Given the description of an element on the screen output the (x, y) to click on. 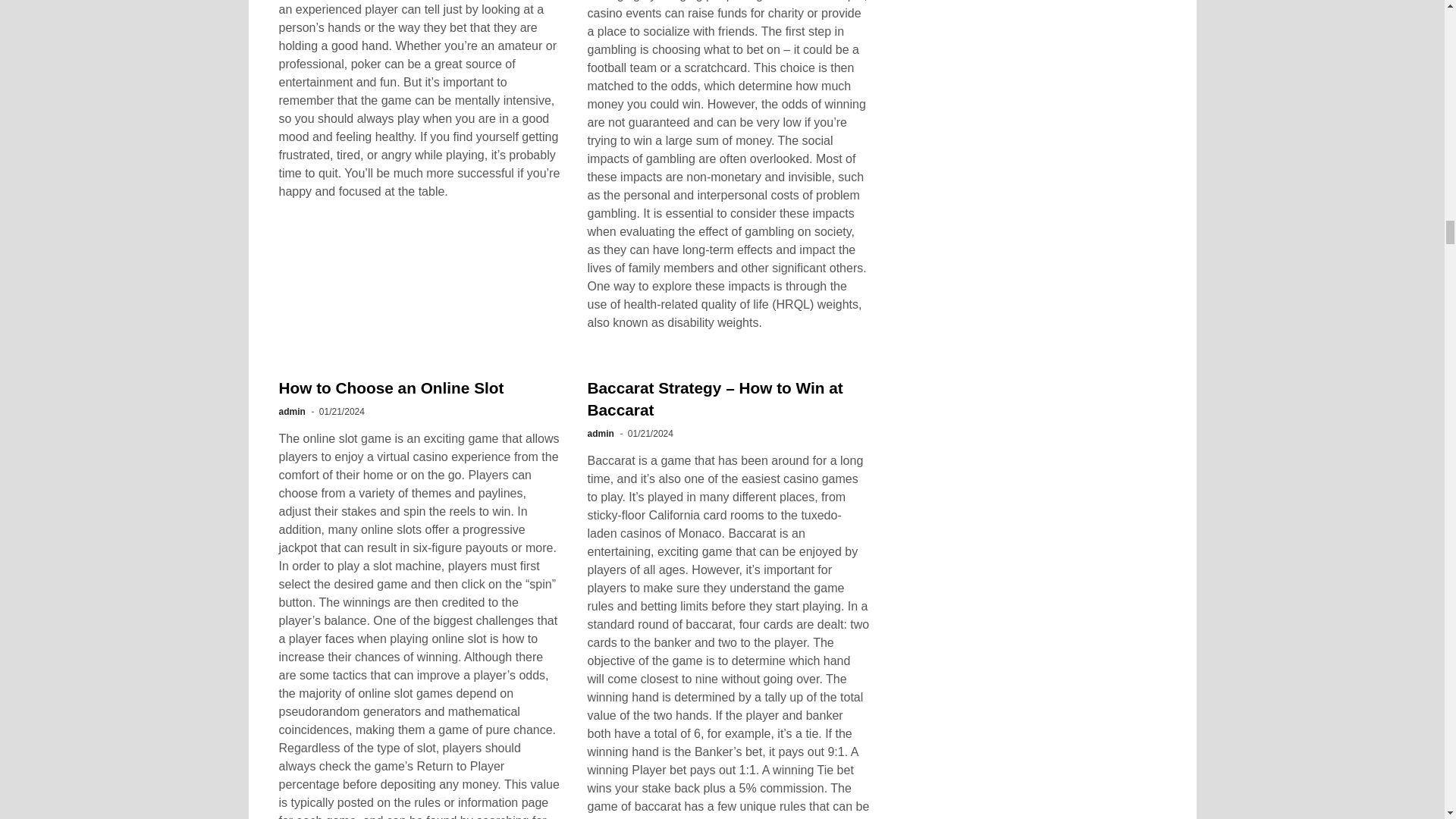
admin (292, 411)
How to Choose an Online Slot (391, 387)
